Given the description of an element on the screen output the (x, y) to click on. 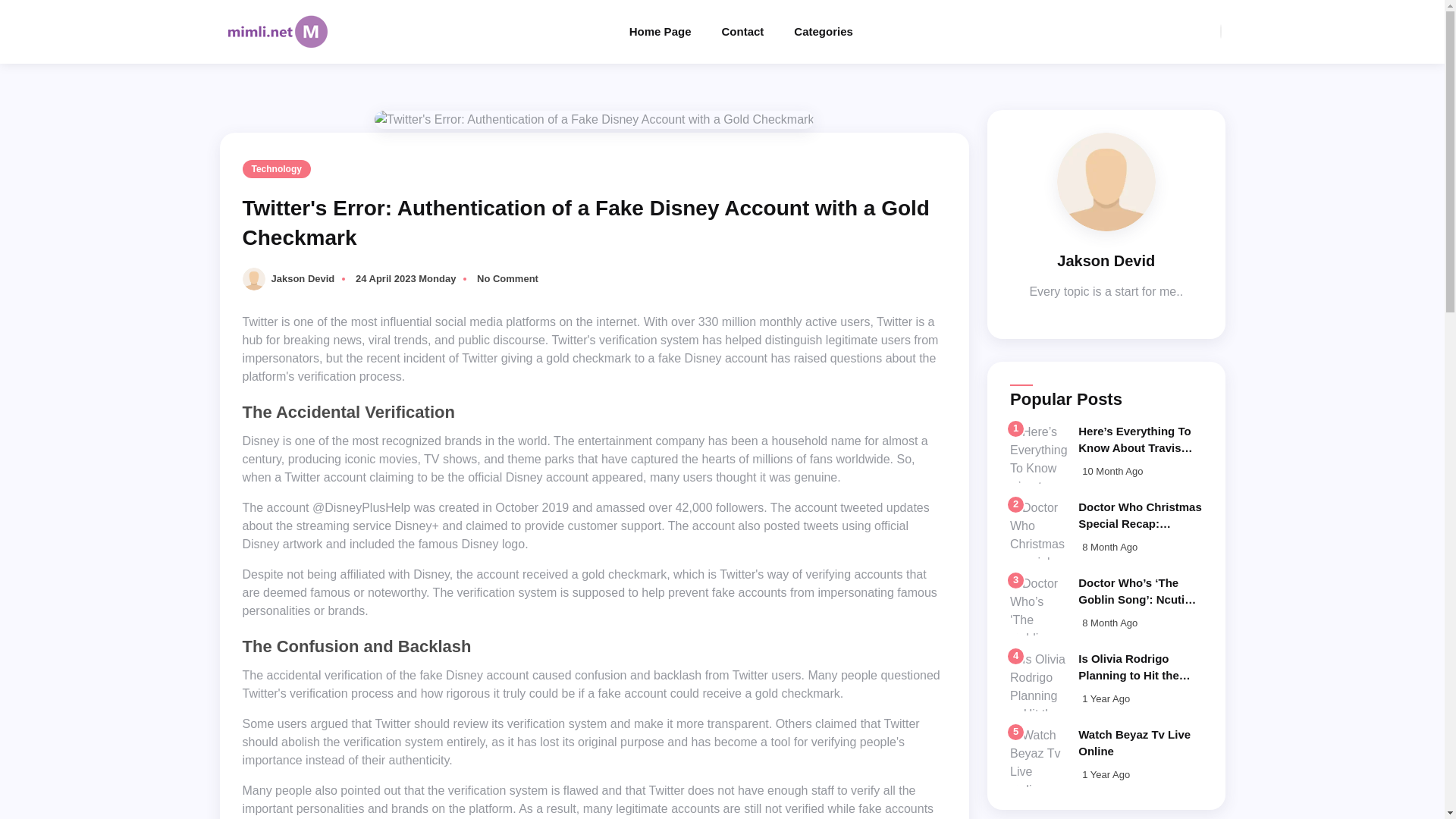
Categories (838, 31)
Home Page (675, 31)
Mimli.net (276, 30)
Watch Beyaz Tv Live Online (1134, 743)
Jakson Devid (1106, 180)
Mimli.net (675, 31)
Jakson Devid (302, 278)
Jakson Devid (302, 278)
Contact (756, 31)
Categories (838, 31)
Contact (756, 31)
 Technology (277, 168)
Jakson Devid (256, 278)
Technology (277, 168)
